Given the description of an element on the screen output the (x, y) to click on. 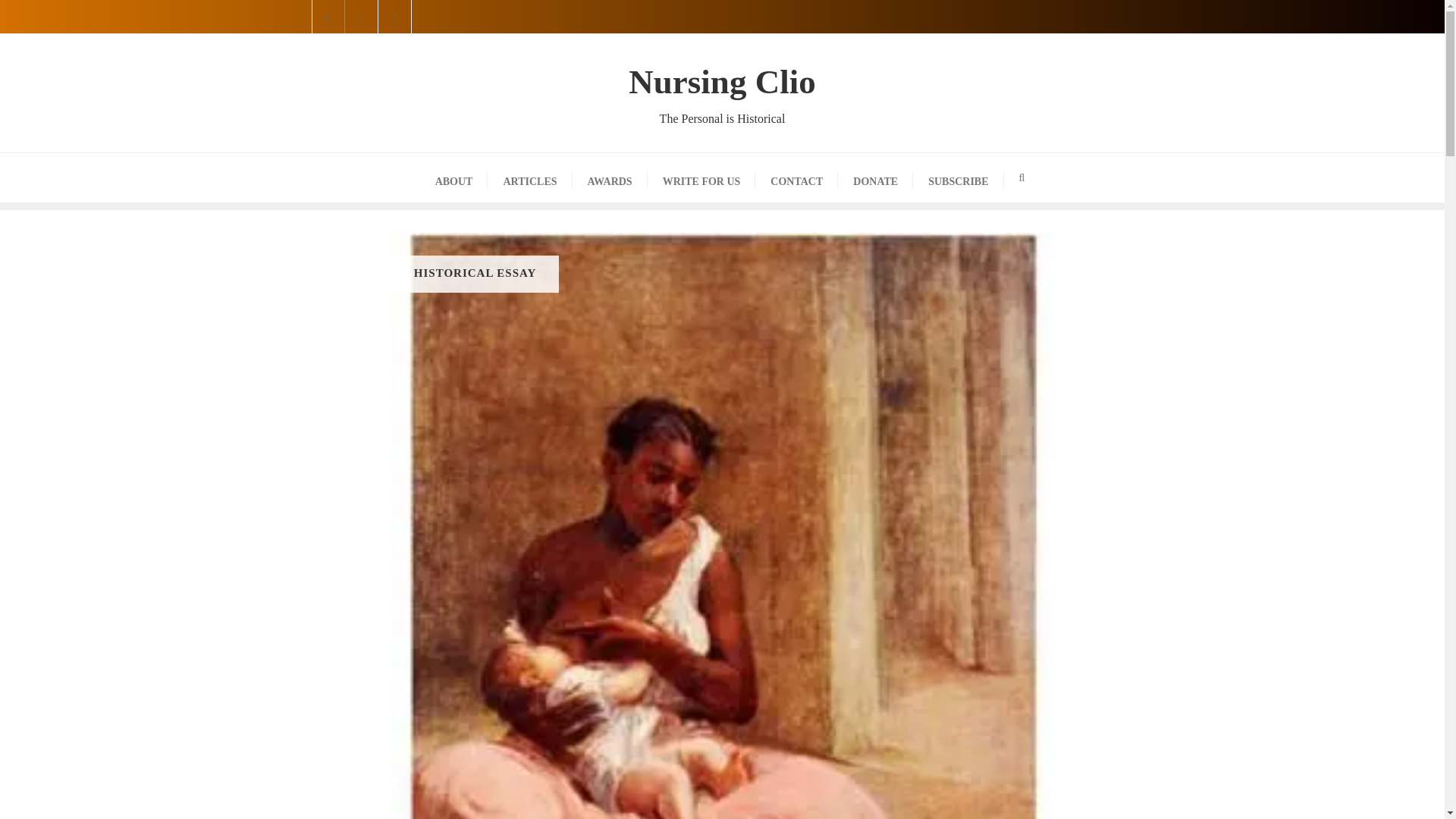
ABOUT (453, 177)
WRITE FOR US (701, 177)
DONATE (721, 93)
SUBSCRIBE (875, 177)
CONTACT (957, 177)
Black Nurse, White Milk: Wet Nursing and Slavery in Brazil (796, 177)
ARTICLES (609, 177)
